Given the description of an element on the screen output the (x, y) to click on. 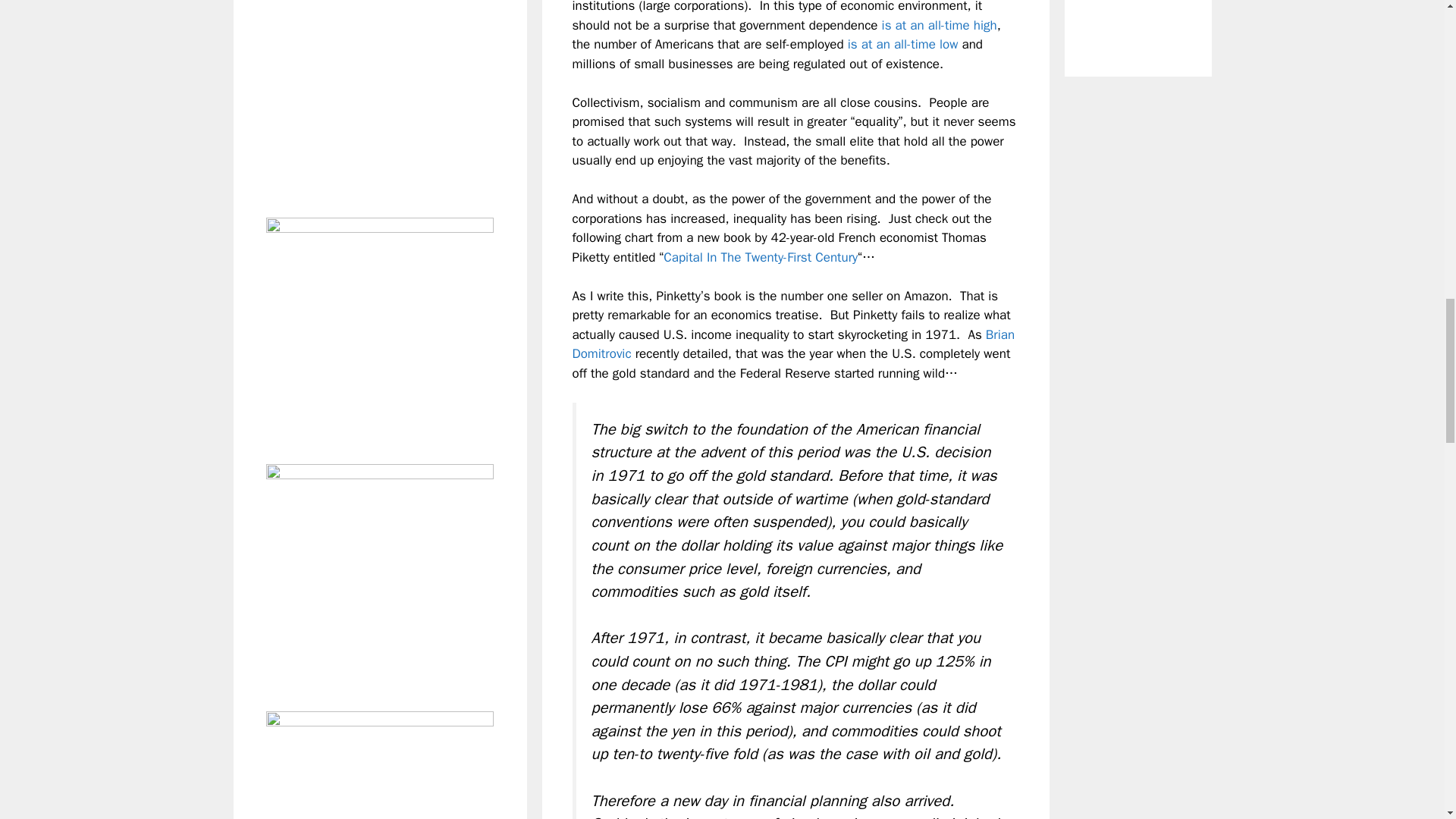
is at an all-time low (902, 44)
is at an all-time high (939, 25)
Brian Domitrovic (793, 344)
Capital In The Twenty-First Century (760, 257)
